Given the description of an element on the screen output the (x, y) to click on. 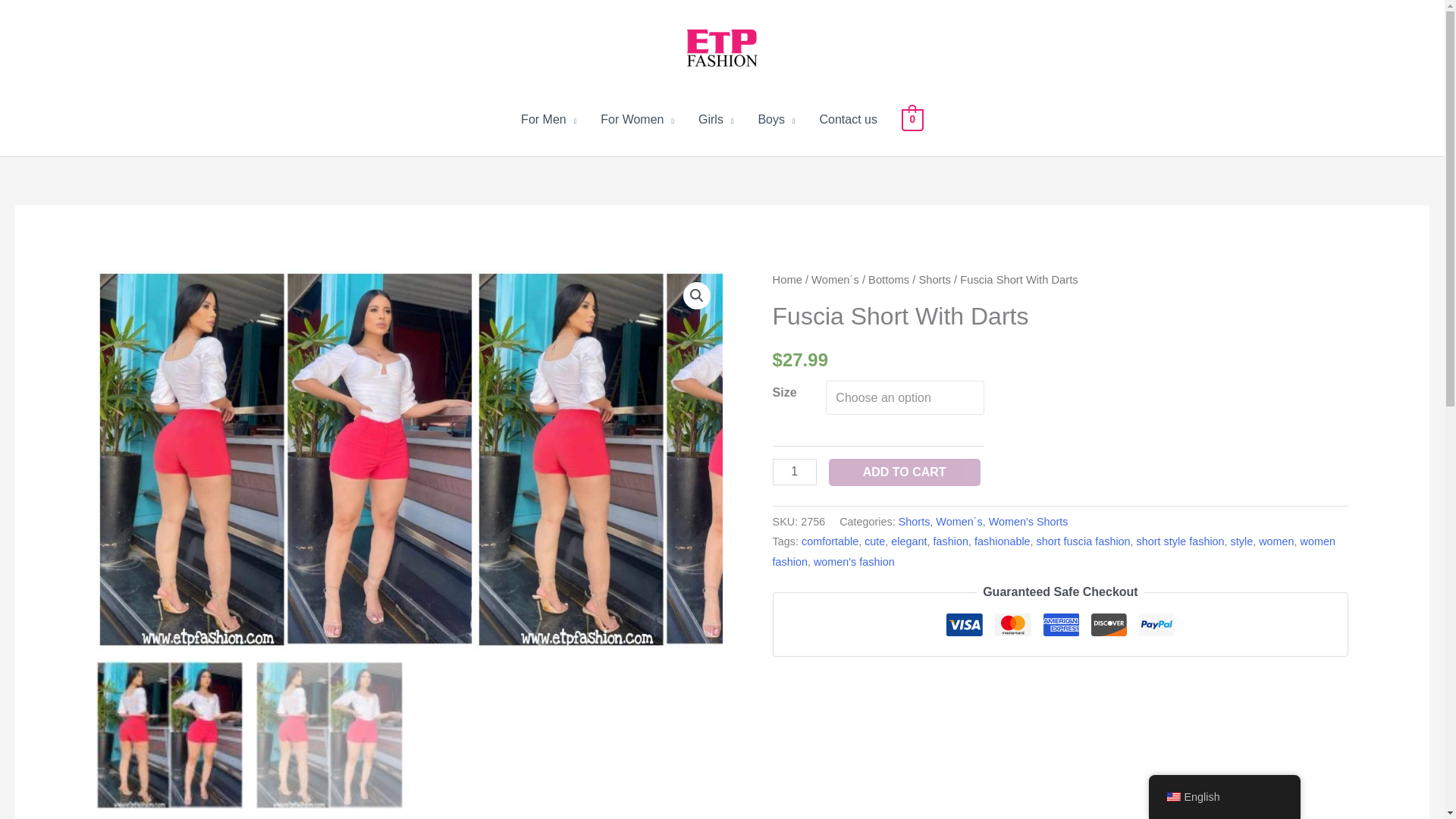
Qty (794, 471)
1 (794, 471)
For Men (548, 119)
English (1172, 796)
